Given the description of an element on the screen output the (x, y) to click on. 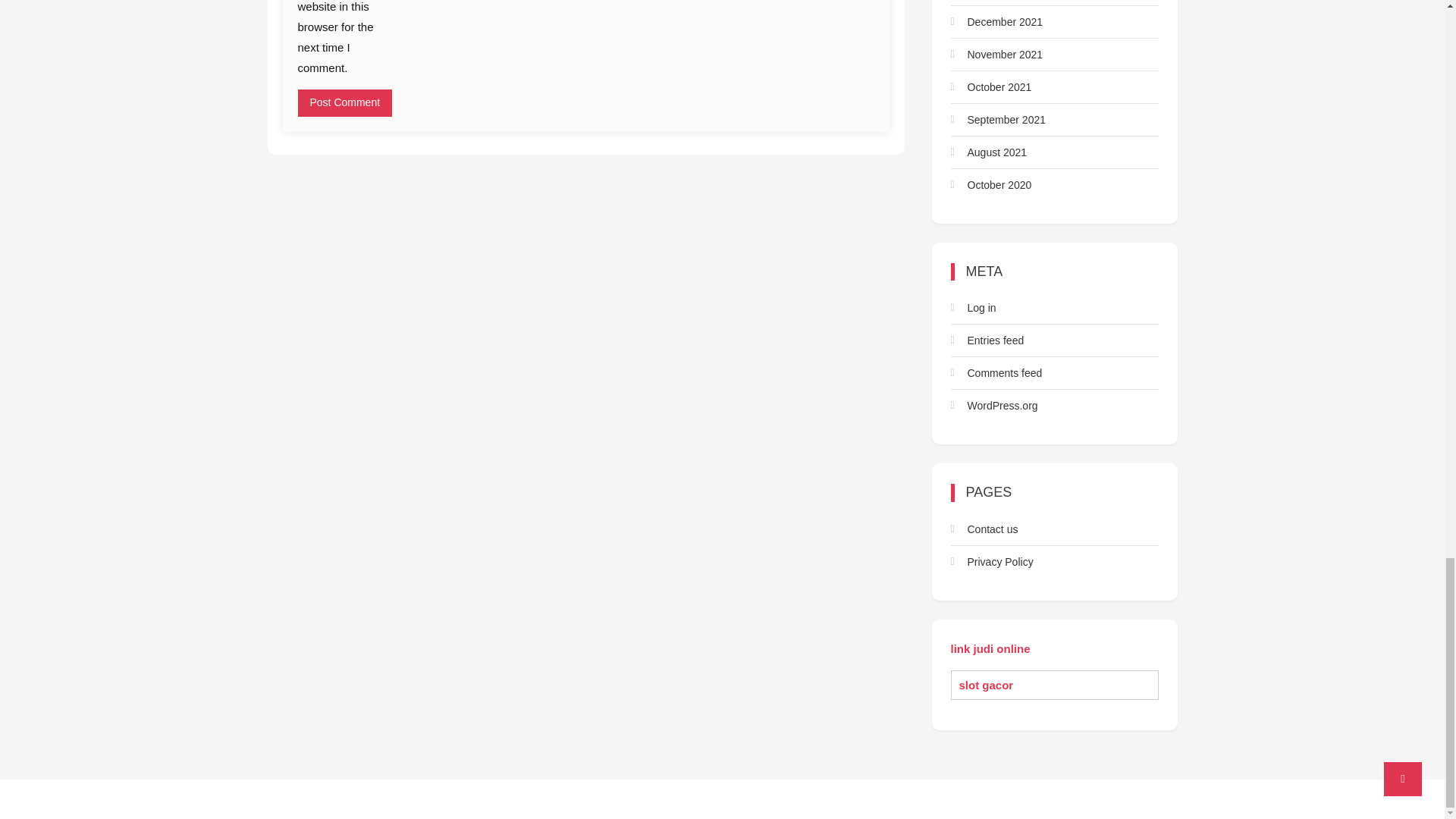
Post Comment (344, 103)
Post Comment (344, 103)
